Given the description of an element on the screen output the (x, y) to click on. 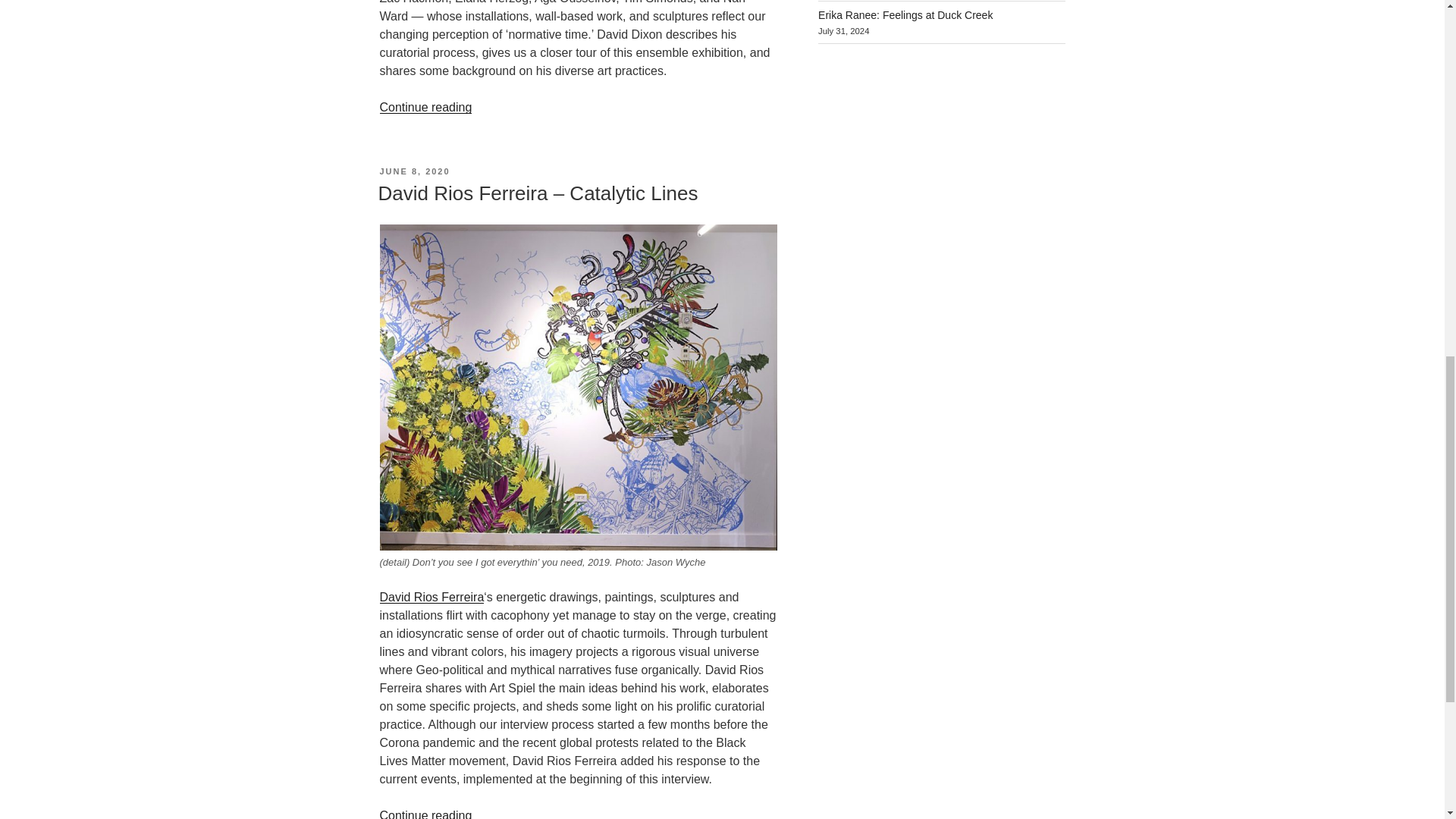
David Rios Ferreira (430, 596)
Erika Ranee: Feelings at Duck Creek (905, 15)
JUNE 8, 2020 (413, 171)
